Given the description of an element on the screen output the (x, y) to click on. 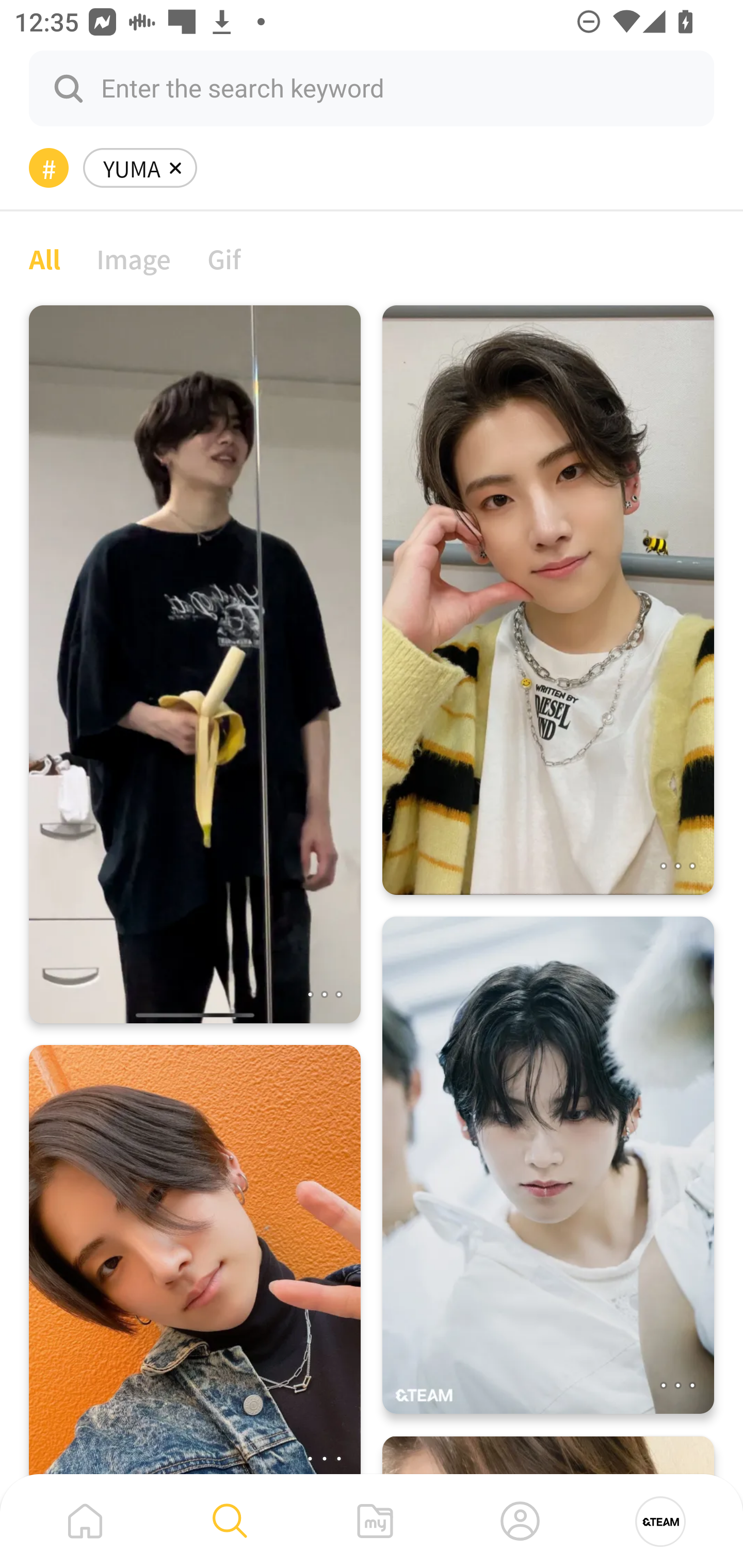
All (44, 257)
Image (133, 257)
Gif (223, 257)
